Given the description of an element on the screen output the (x, y) to click on. 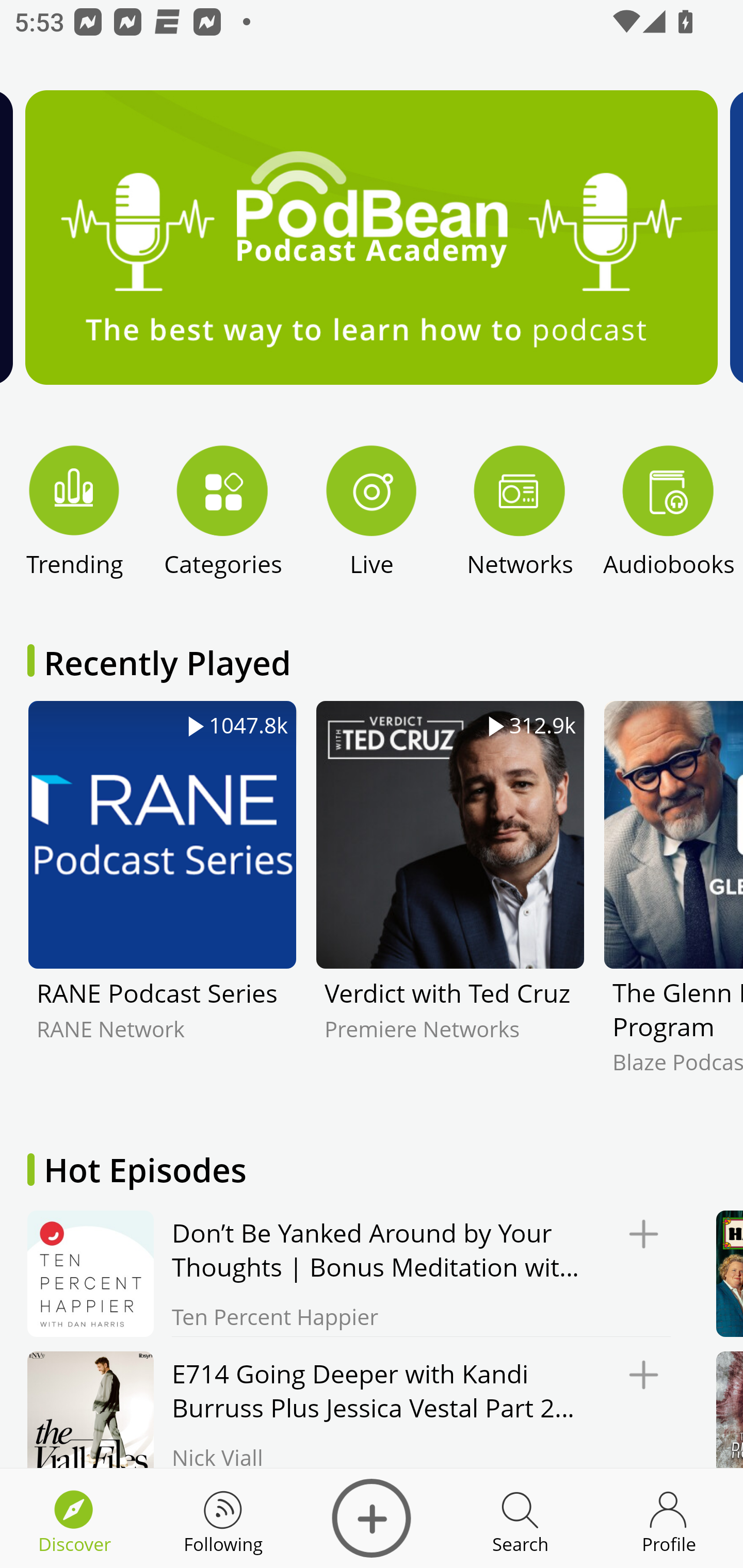
1047.8k RANE Podcast Series RANE Network (162, 902)
312.9k Verdict with Ted Cruz Premiere Networks (450, 902)
The Glenn Beck Program Blaze Podcast Network (673, 902)
Discover Following (222, 1518)
Discover (371, 1518)
Discover Search (519, 1518)
Discover Profile (668, 1518)
